Given the description of an element on the screen output the (x, y) to click on. 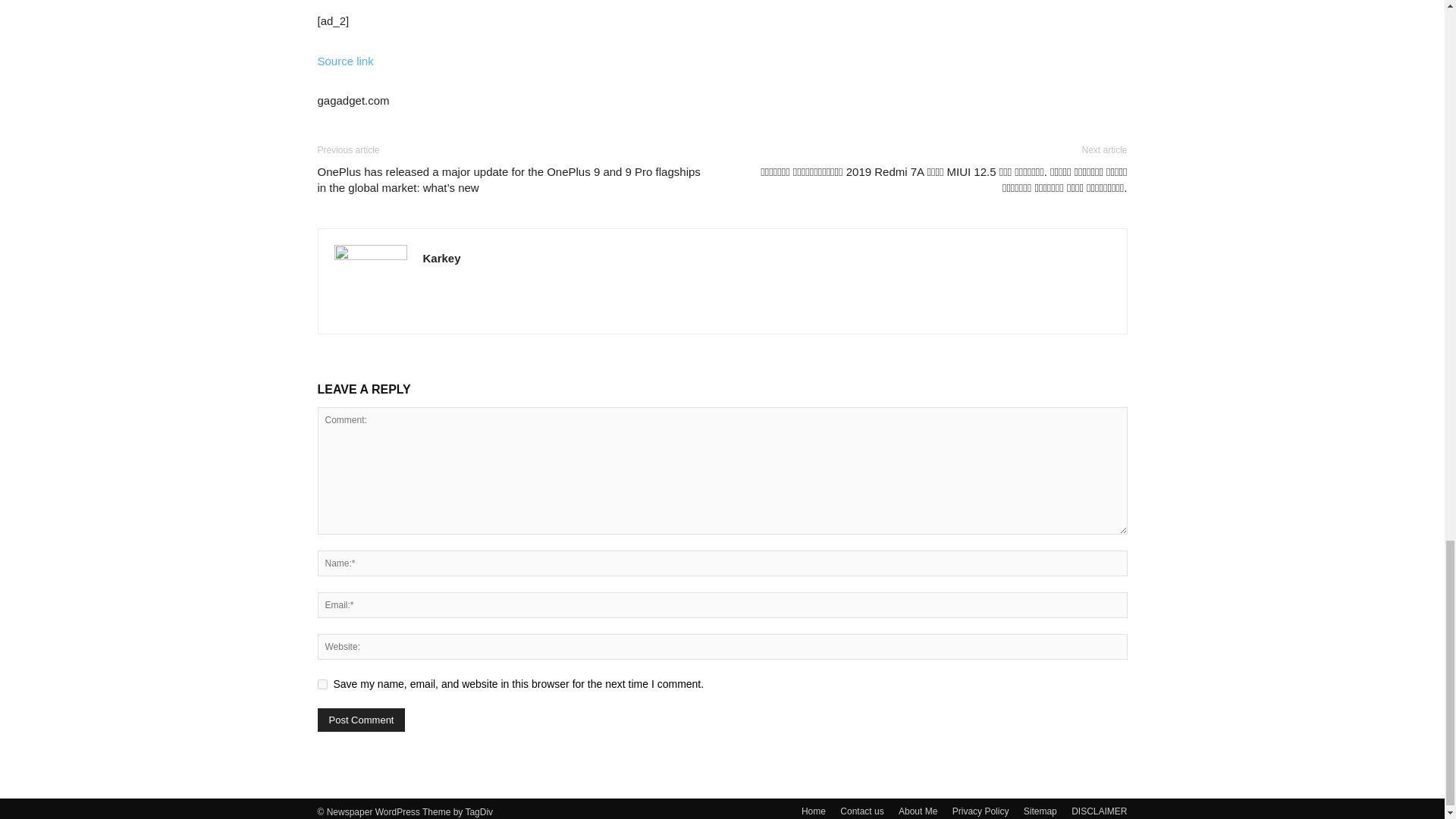
Post Comment (360, 720)
yes (321, 684)
